Given the description of an element on the screen output the (x, y) to click on. 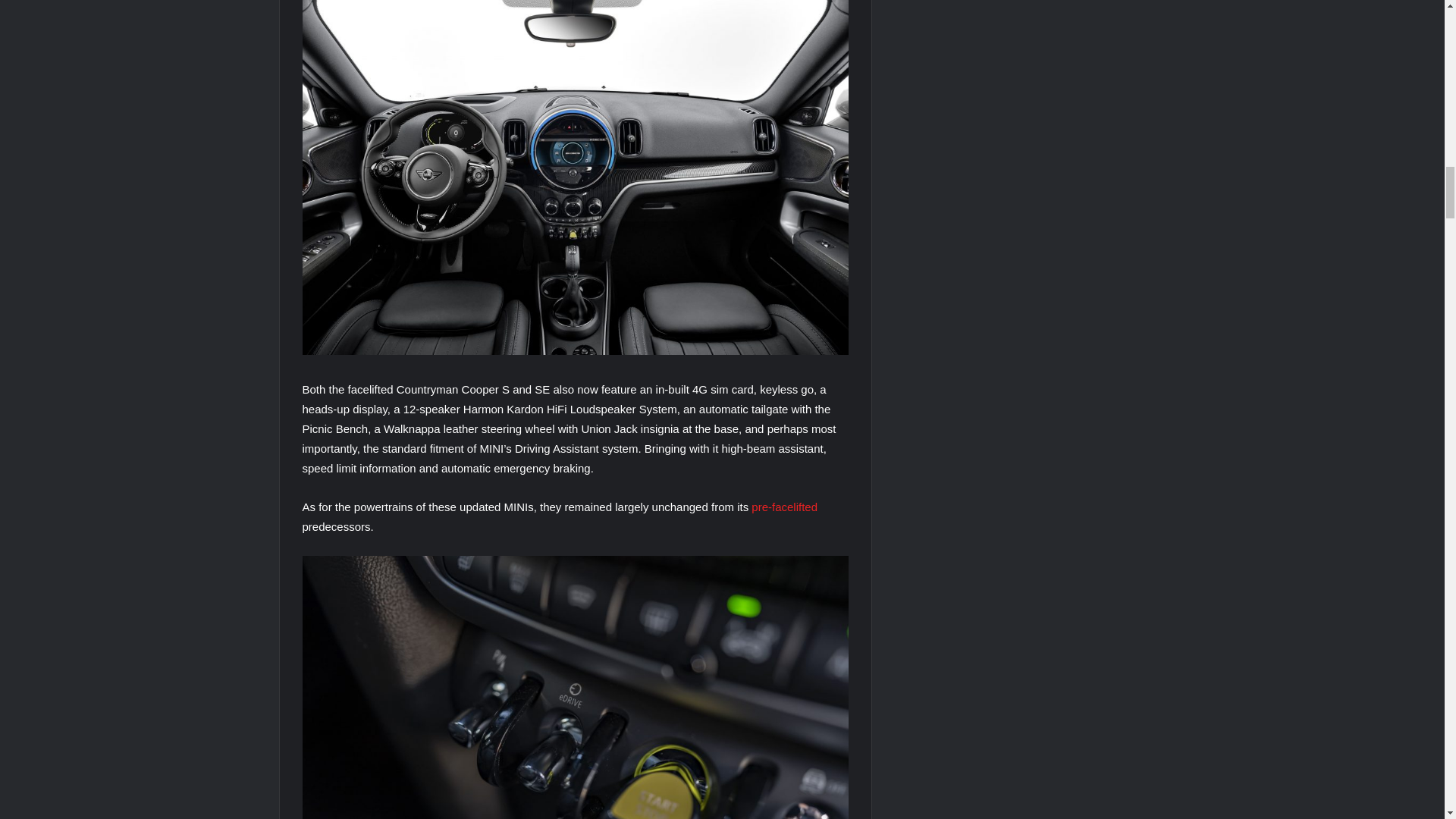
pre-facelifted (783, 506)
